Given the description of an element on the screen output the (x, y) to click on. 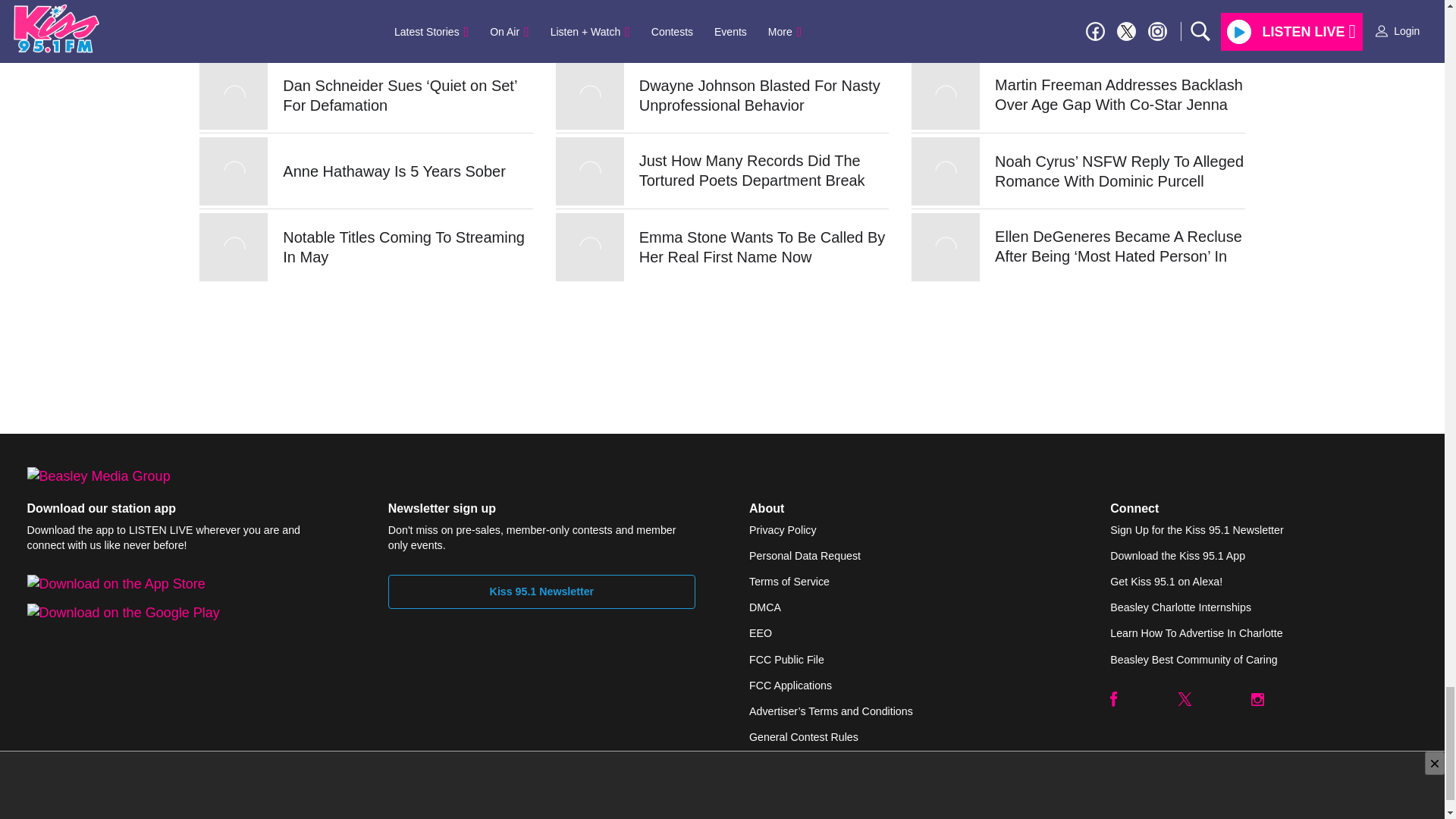
Instagram (1256, 698)
Twitter (1184, 698)
